Given the description of an element on the screen output the (x, y) to click on. 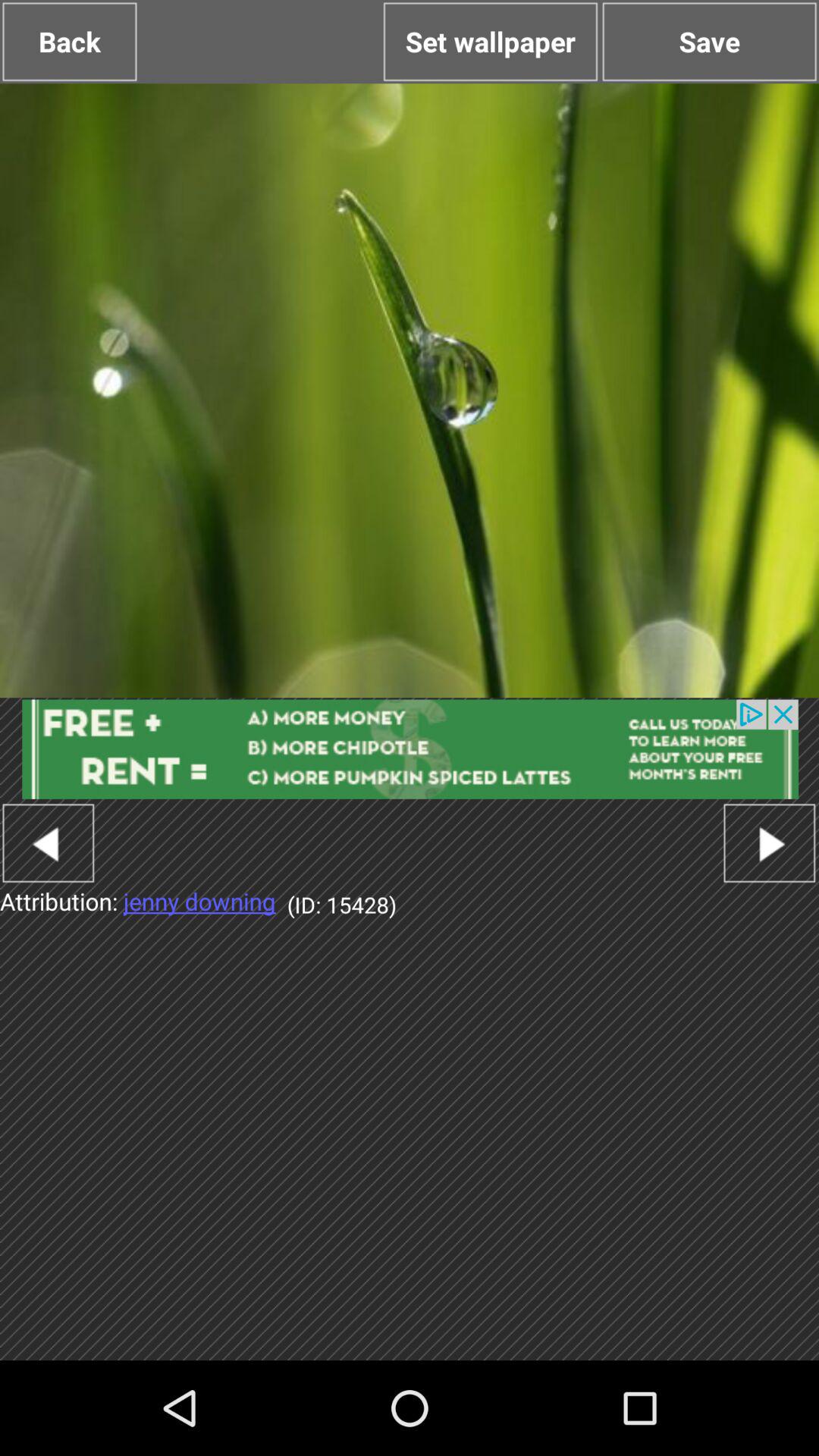
advertisement banner (409, 749)
